Given the description of an element on the screen output the (x, y) to click on. 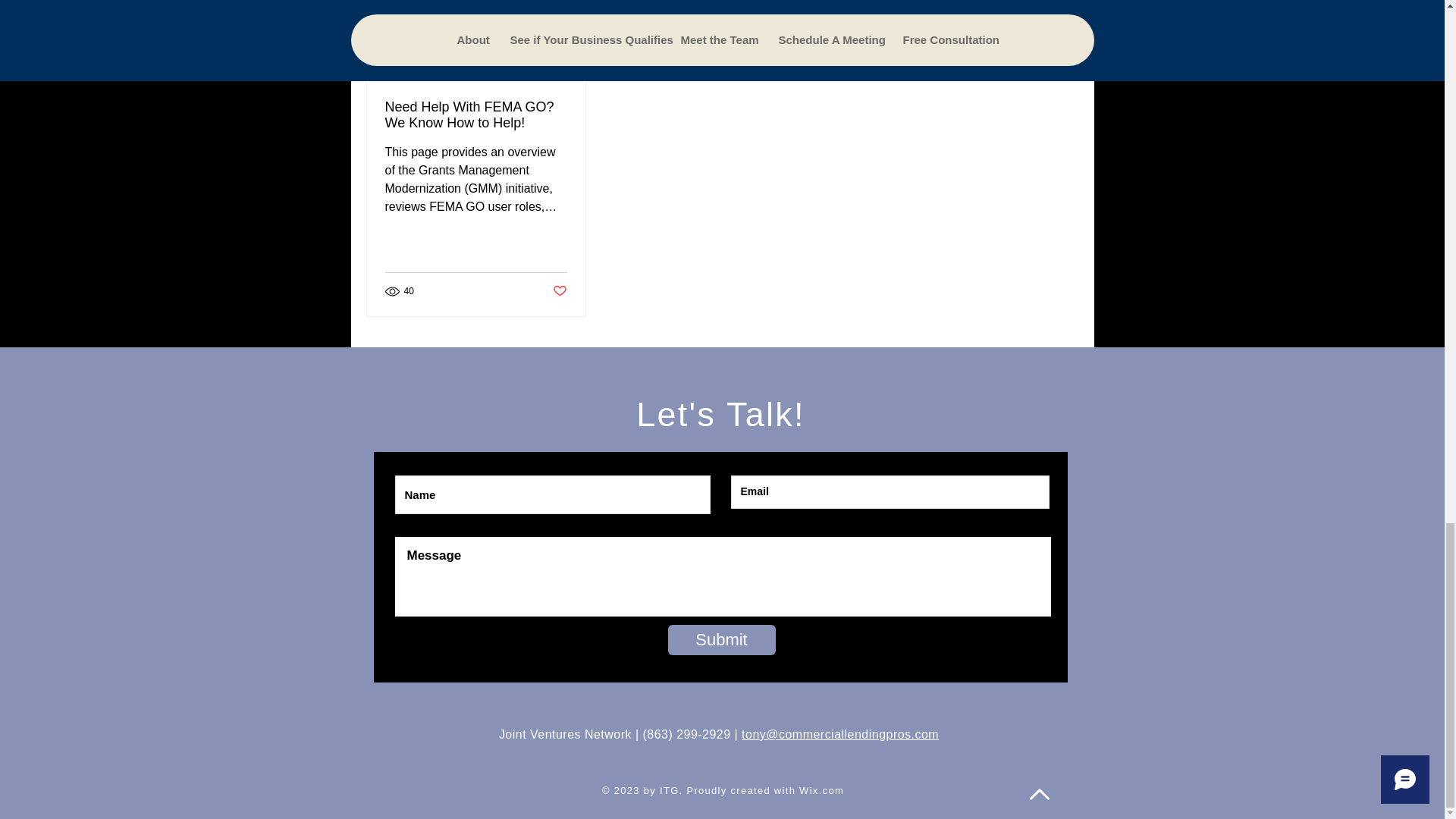
Need Help With FEMA GO? We Know How to Help! (476, 115)
Submit (720, 639)
Wix.com (821, 790)
See All (1061, 54)
Post not marked as liked (558, 291)
